Given the description of an element on the screen output the (x, y) to click on. 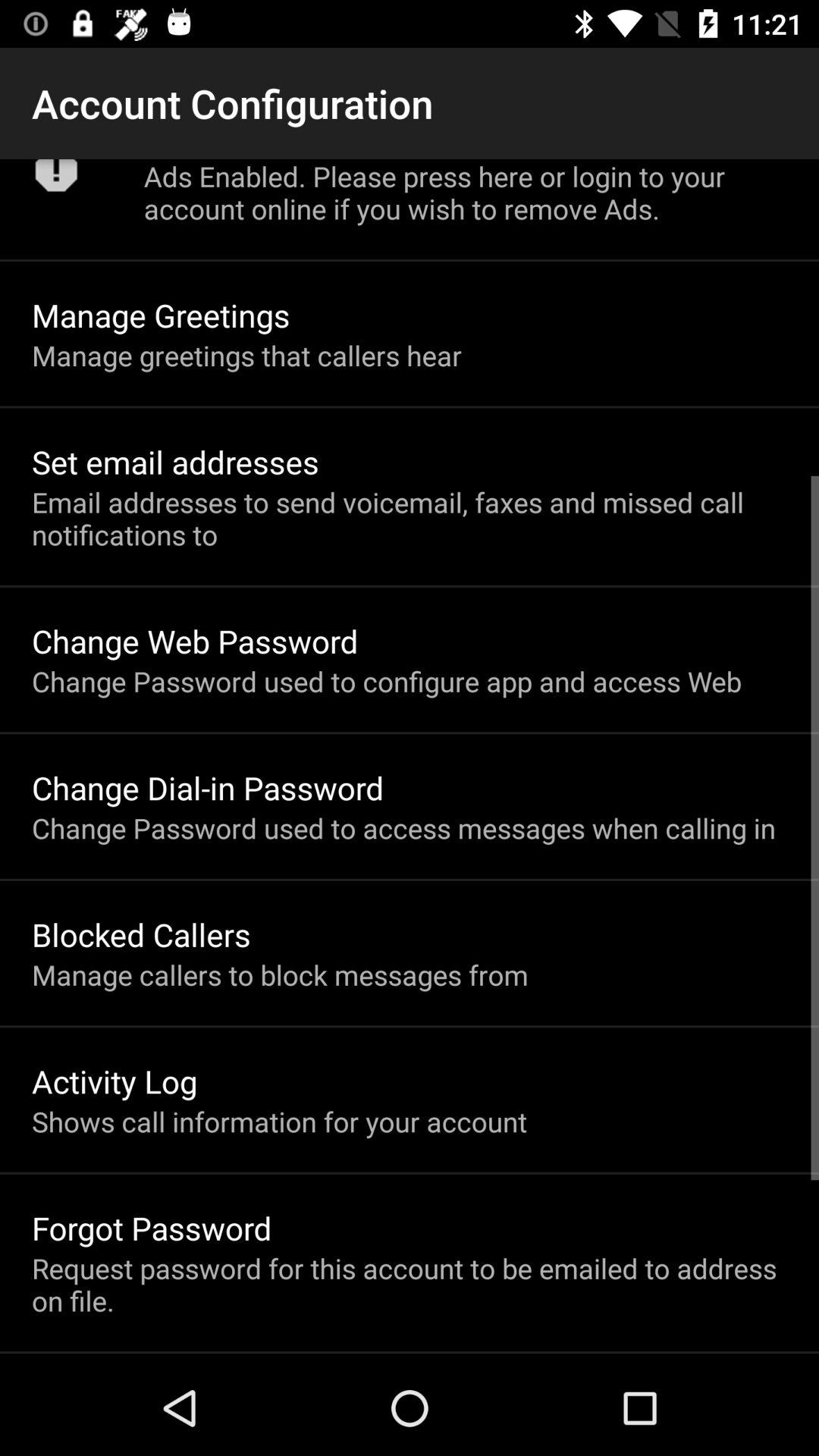
tap the activity log (114, 1080)
